Given the description of an element on the screen output the (x, y) to click on. 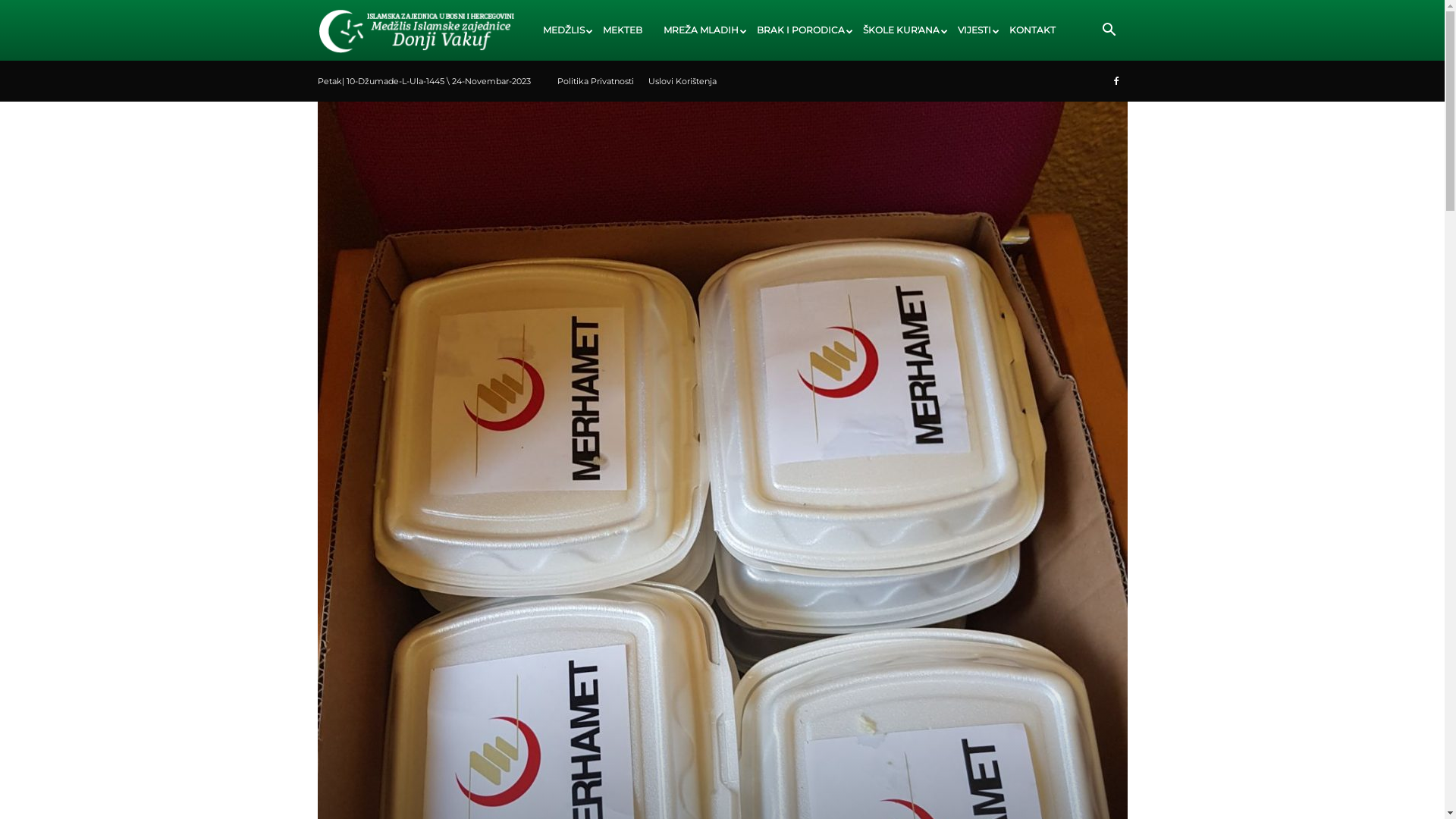
Pretraga Element type: text (1081, 103)
KONTAKT Element type: text (1032, 30)
BRAK I PORODICA Element type: text (799, 30)
Facebook Element type: hover (1115, 80)
MEKTEB Element type: text (622, 30)
VIJESTI Element type: text (972, 30)
Politika Privatnosti Element type: text (594, 80)
MIZ Donji Vakuf Element type: hover (415, 30)
